Given the description of an element on the screen output the (x, y) to click on. 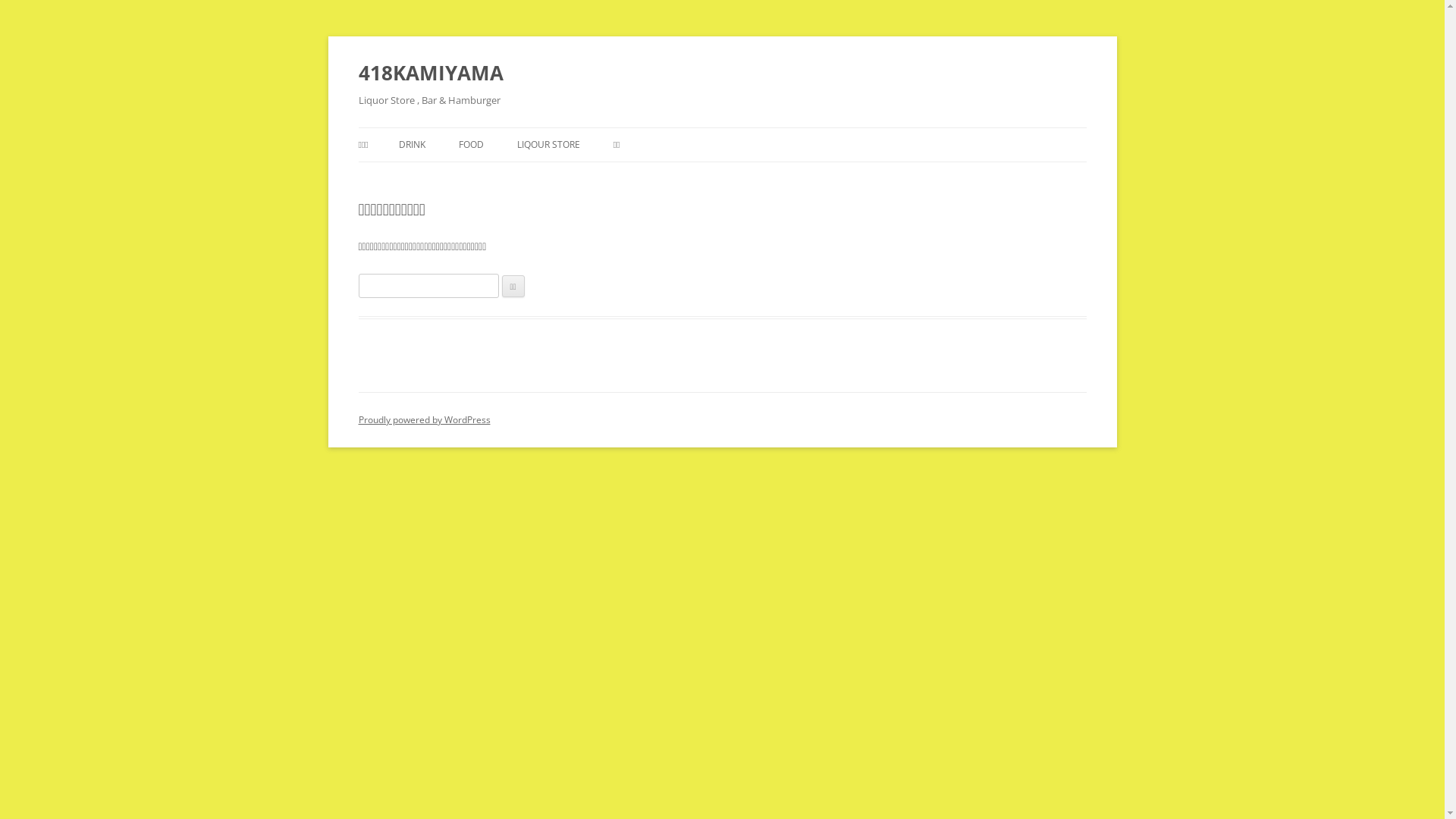
Proudly powered by WordPress Element type: text (423, 419)
LIQOUR STORE Element type: text (548, 144)
DRINK Element type: text (411, 144)
418KAMIYAMA Element type: text (429, 72)
FOOD Element type: text (470, 144)
